Given the description of an element on the screen output the (x, y) to click on. 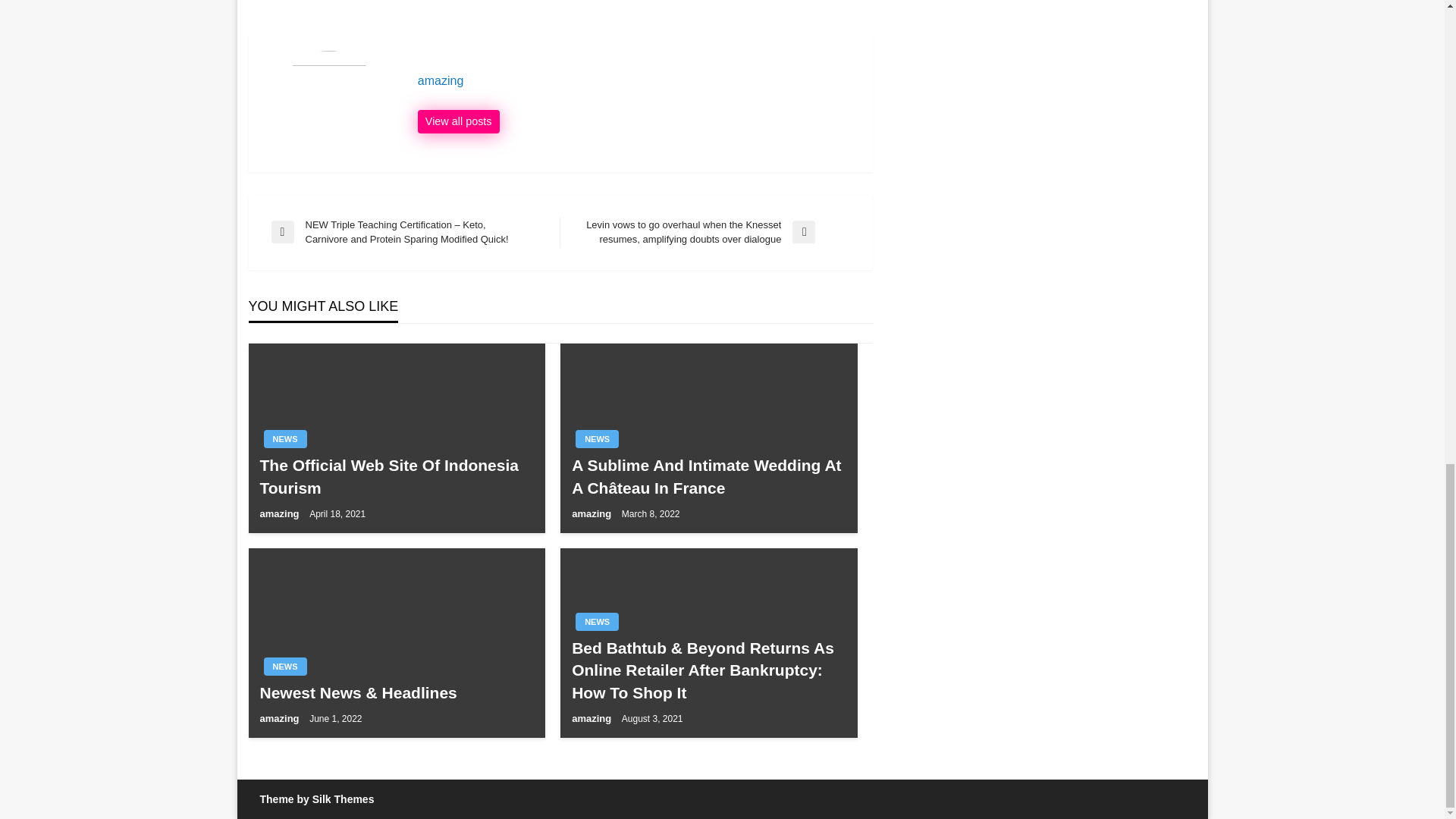
amazing (593, 717)
amazing (637, 80)
NEWS (596, 621)
amazing (593, 513)
amazing (280, 513)
amazing (458, 121)
NEWS (285, 438)
View all posts (458, 121)
NEWS (596, 438)
amazing (280, 717)
amazing (637, 80)
NEWS (285, 666)
The Official Web Site Of Indonesia Tourism (396, 476)
